Given the description of an element on the screen output the (x, y) to click on. 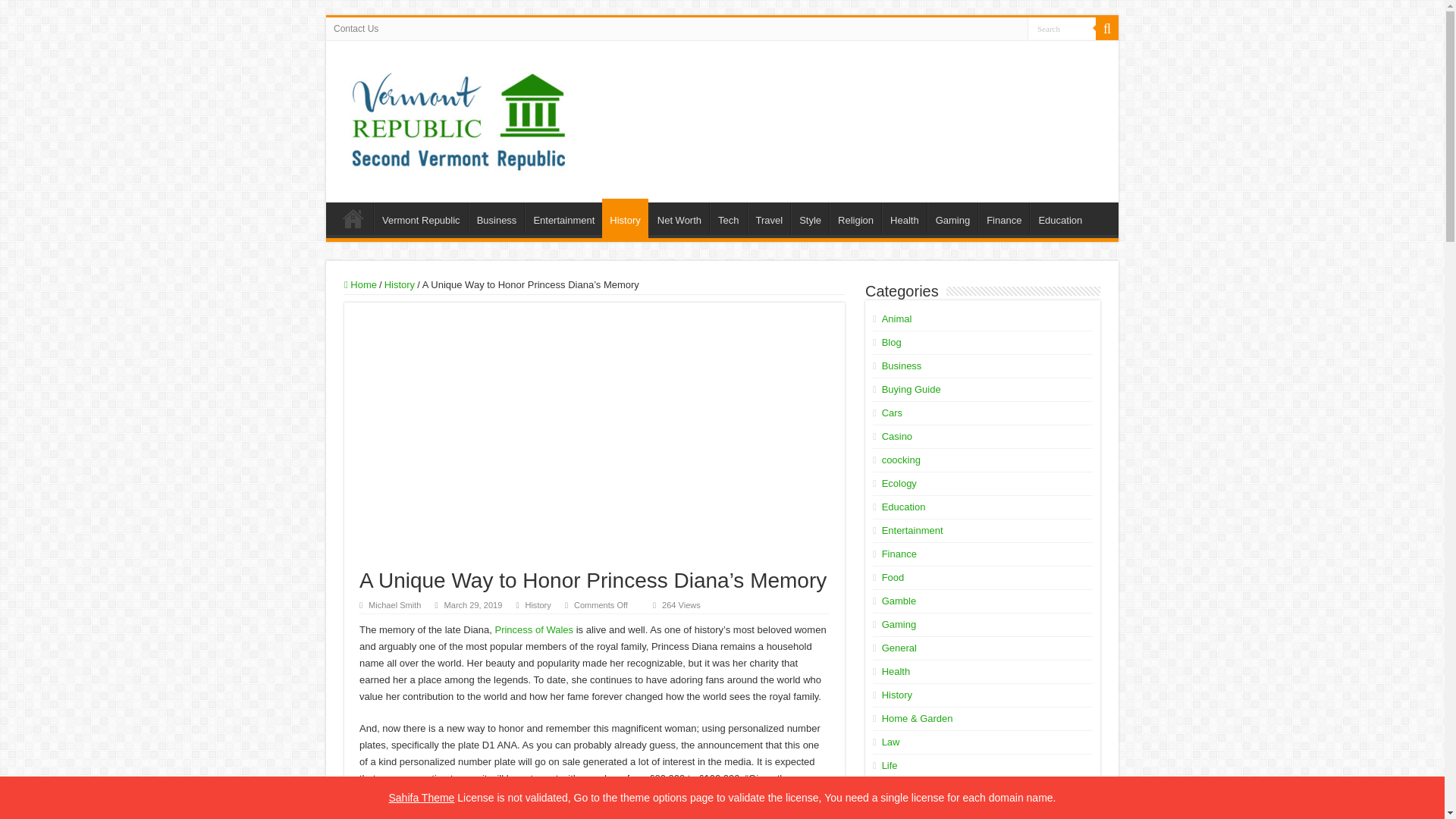
Search (1061, 28)
History (537, 604)
Business (496, 218)
Travel (769, 218)
History (624, 218)
Net Worth (679, 218)
Contact Us (355, 28)
Home (352, 218)
Michael Smith (394, 604)
Search (1061, 28)
Search (1107, 28)
Tech (727, 218)
Education (1059, 218)
Vermont Republic (420, 218)
Show Plates Direct (493, 811)
